Given the description of an element on the screen output the (x, y) to click on. 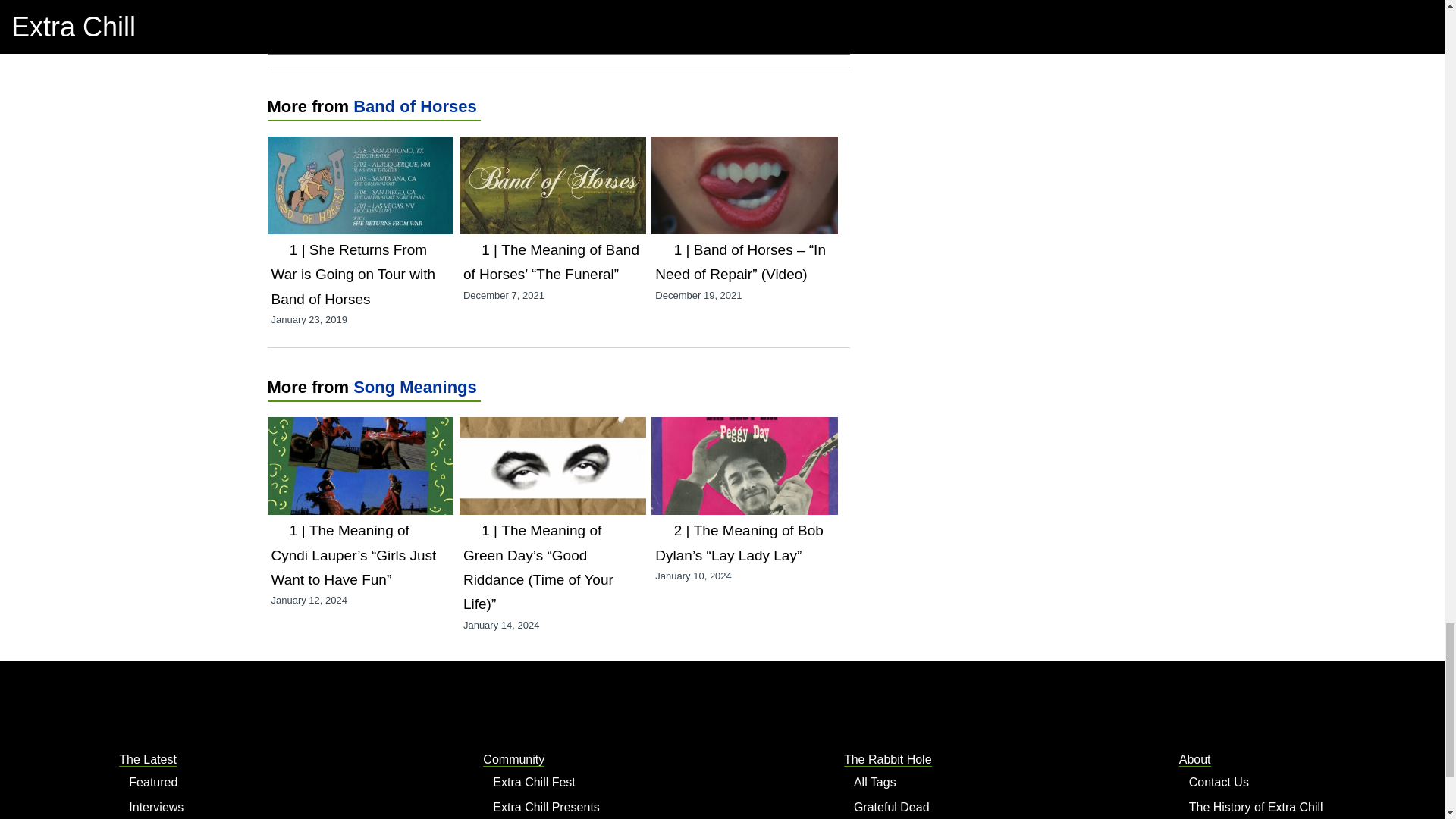
She Returns From War is Going on Tour with Band of Horses (352, 274)
Song Meanings (415, 386)
She Returns From War is Going on Tour with Band of Horses (352, 274)
SONG MEANINGS (369, 36)
BAND OF HORSES (383, 19)
She Returns From War is Going on Tour with Band of Horses (359, 148)
Band of Horses (415, 106)
